Given the description of an element on the screen output the (x, y) to click on. 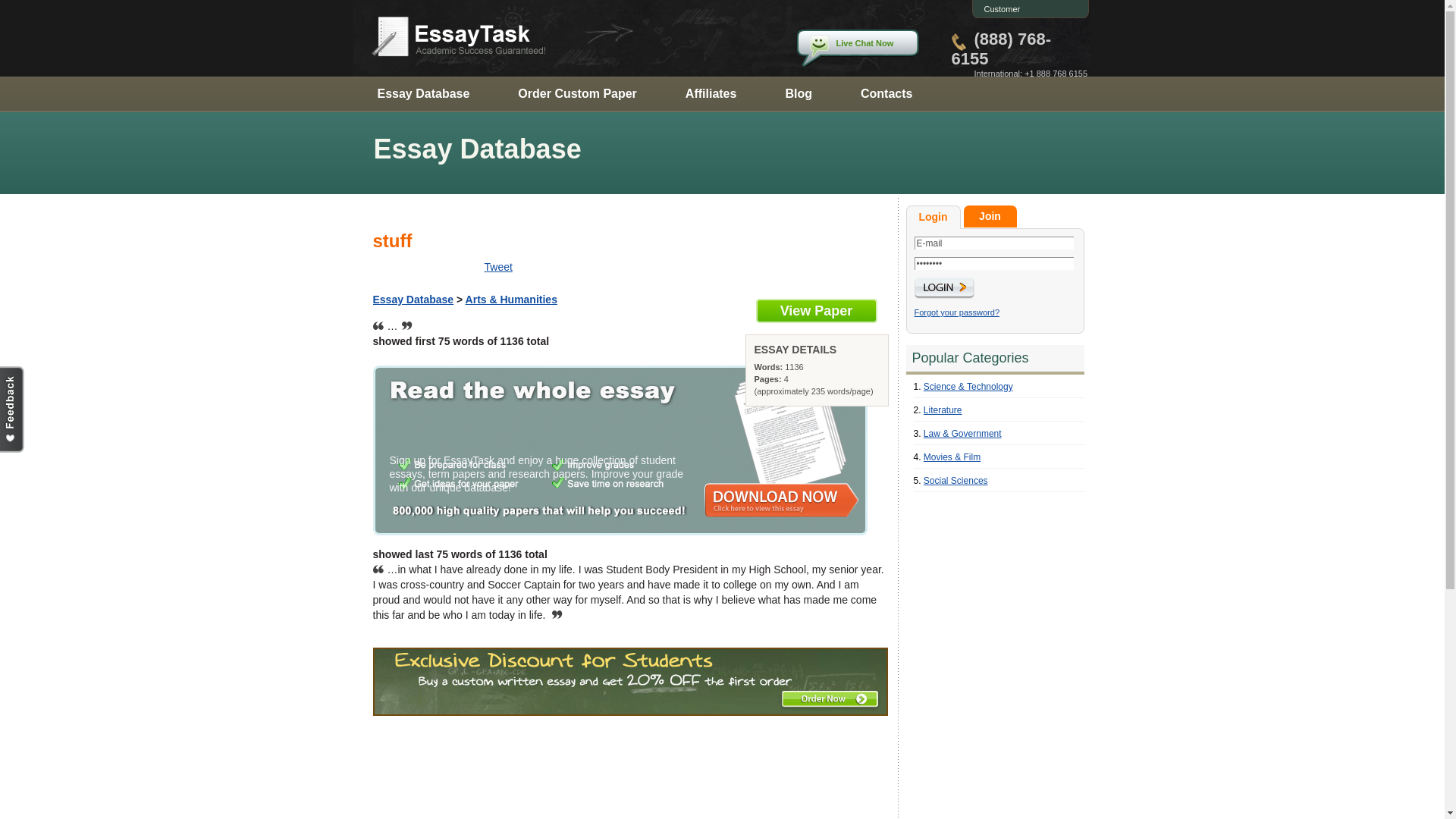
Forgot your password? (957, 311)
Essay Database (423, 92)
Literature (942, 409)
Join (989, 216)
Social Sciences (955, 480)
Customer Login (998, 17)
Essay Database (413, 299)
Tweet (497, 266)
Password (994, 263)
